Given the description of an element on the screen output the (x, y) to click on. 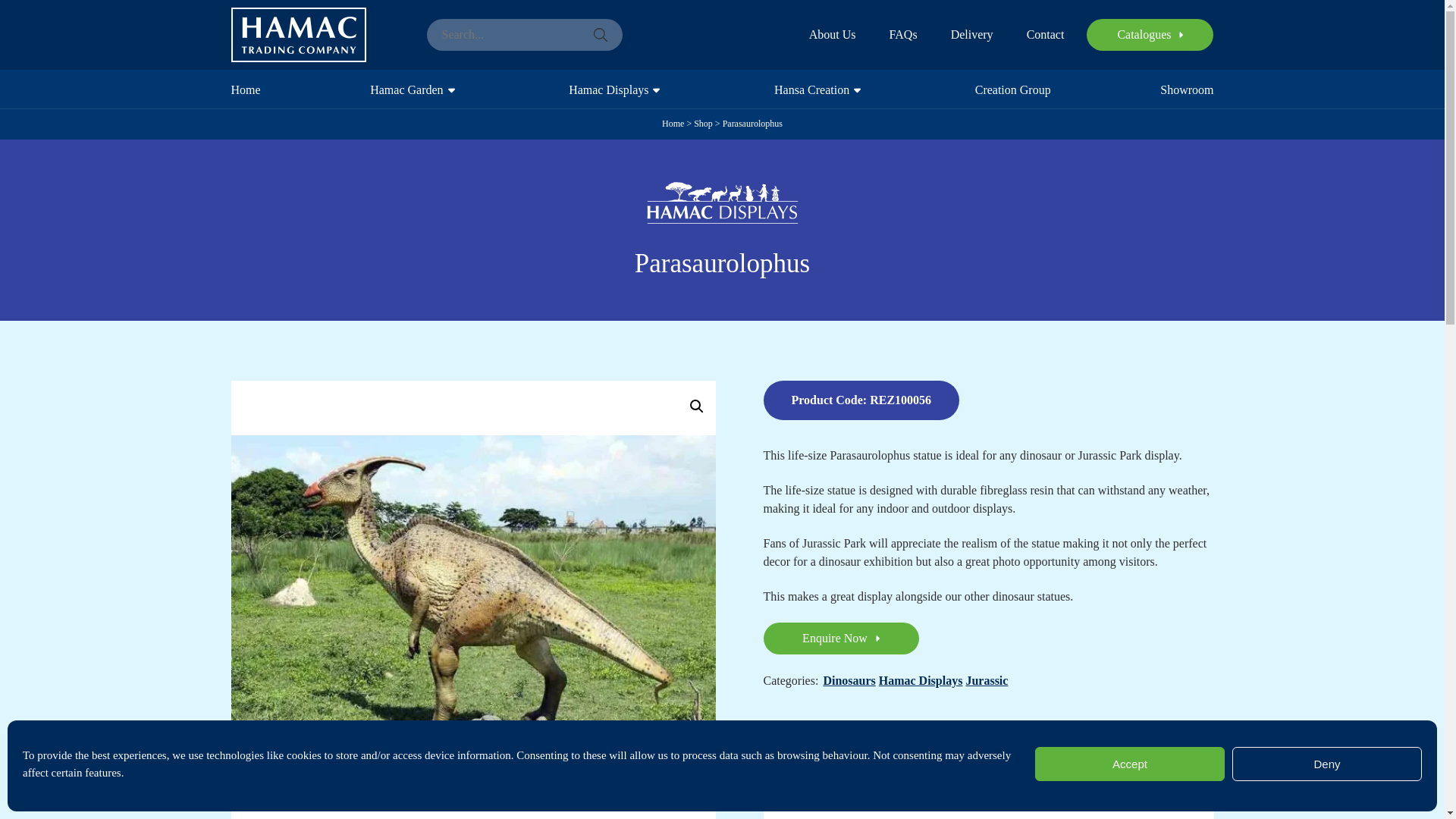
Hamac Garden (407, 88)
Catalogues (1149, 34)
Contact (1045, 34)
Hamac Displays (610, 88)
Deny (1326, 763)
Accept (1129, 763)
FAQs (903, 34)
Delivery (971, 34)
About Us (832, 34)
